Given the description of an element on the screen output the (x, y) to click on. 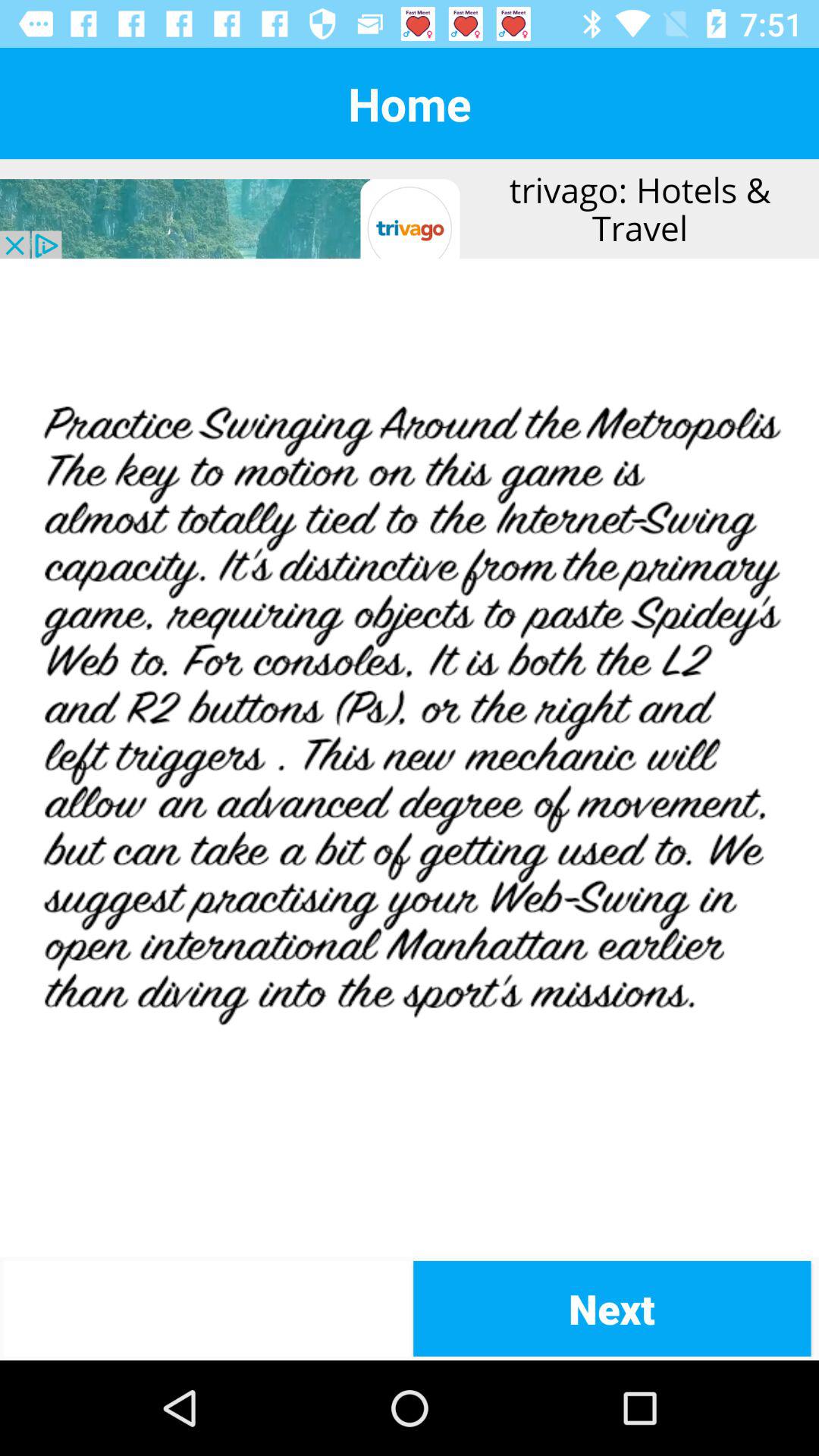
advertisement at top (409, 208)
